Given the description of an element on the screen output the (x, y) to click on. 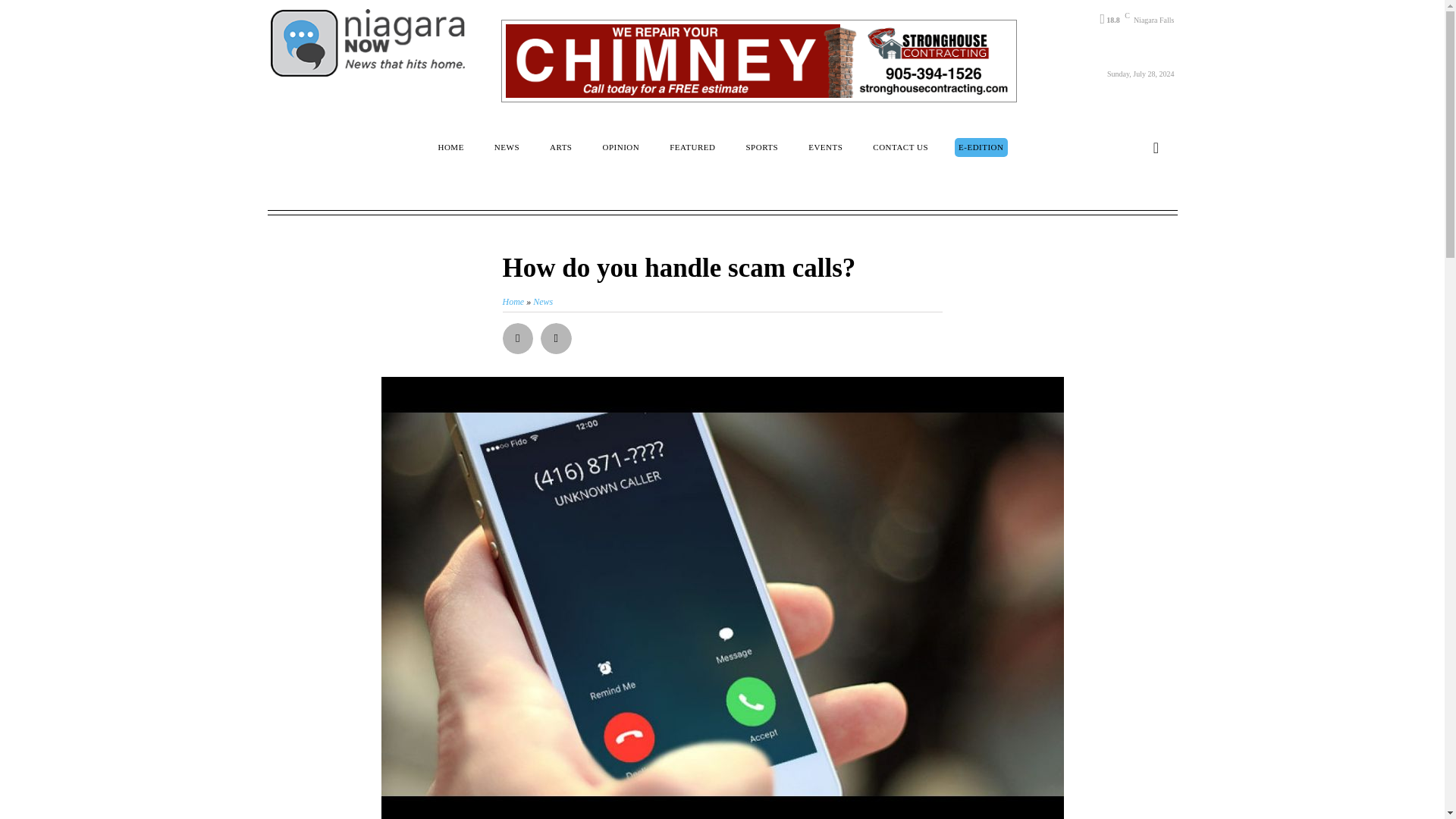
EVENTS (825, 147)
NEWS (506, 147)
SPORTS (761, 147)
ARTS (560, 147)
CONTACT US (900, 147)
E-EDITION (981, 147)
FEATURED (692, 147)
HOME (450, 147)
OPINION (620, 147)
